Given the description of an element on the screen output the (x, y) to click on. 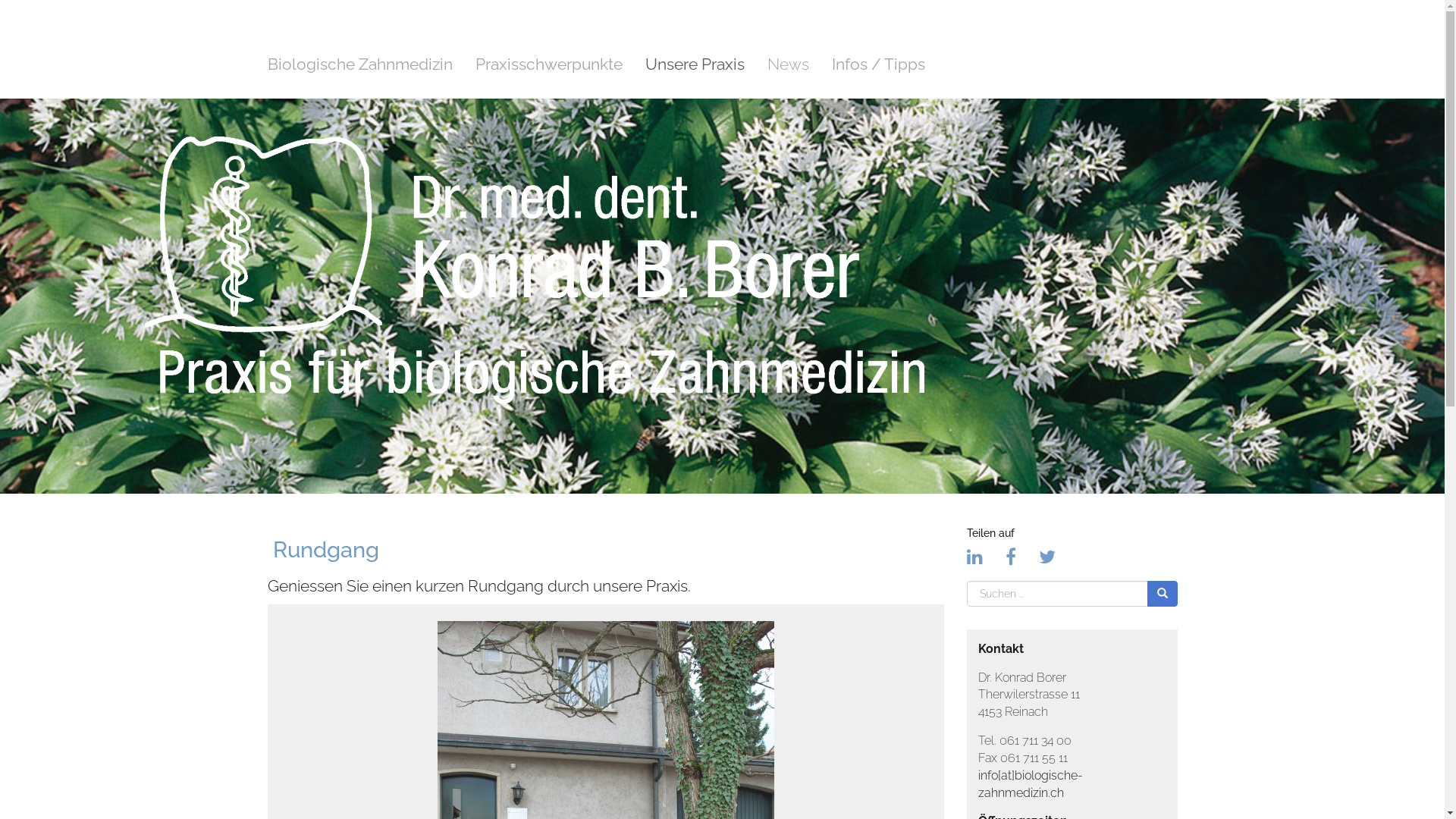
info[at]biologische-zahnmedizin.ch Element type: text (1030, 784)
News Element type: text (788, 63)
News Element type: text (788, 64)
